Given the description of an element on the screen output the (x, y) to click on. 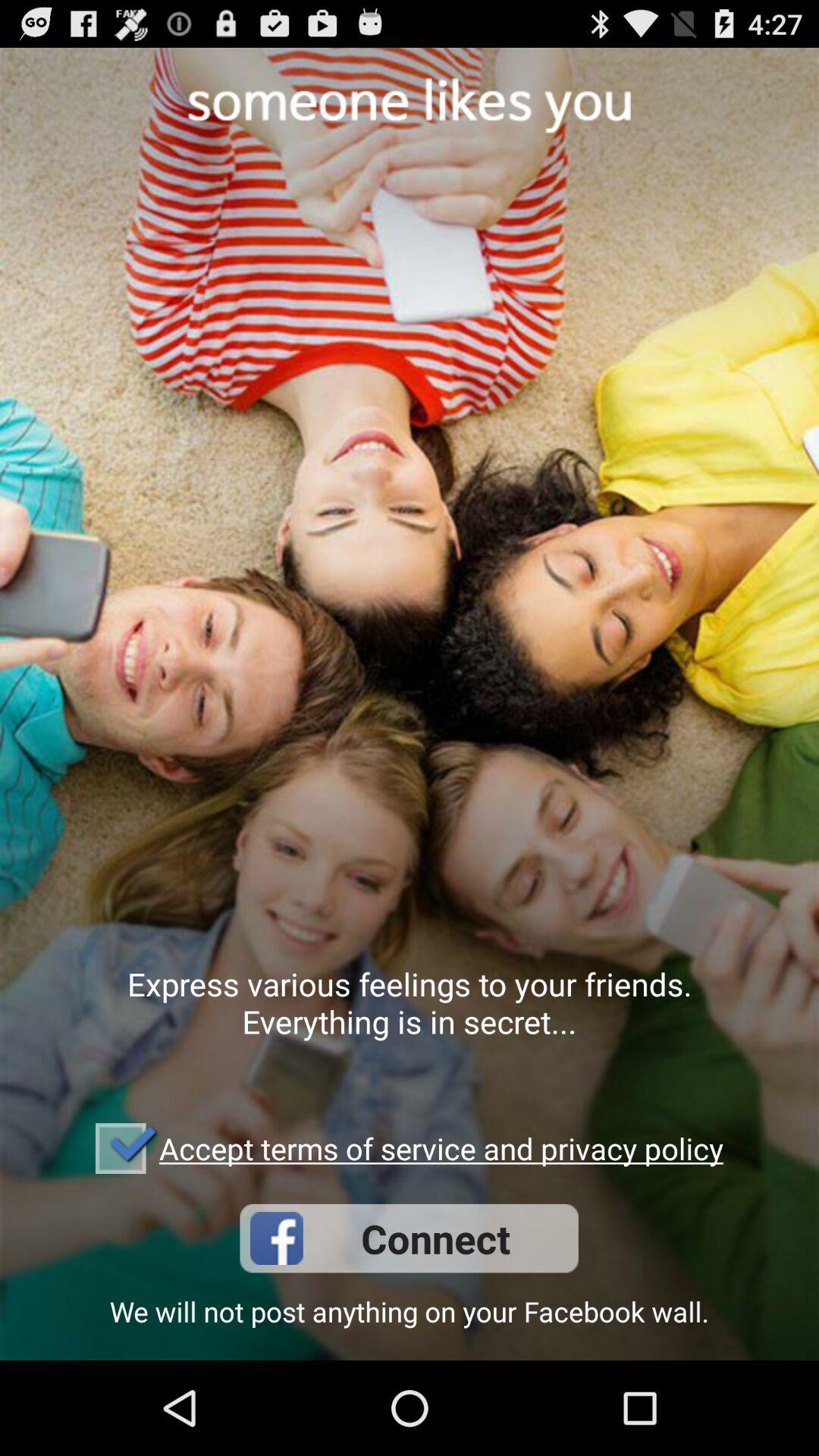
tap accept terms of app (441, 1148)
